Given the description of an element on the screen output the (x, y) to click on. 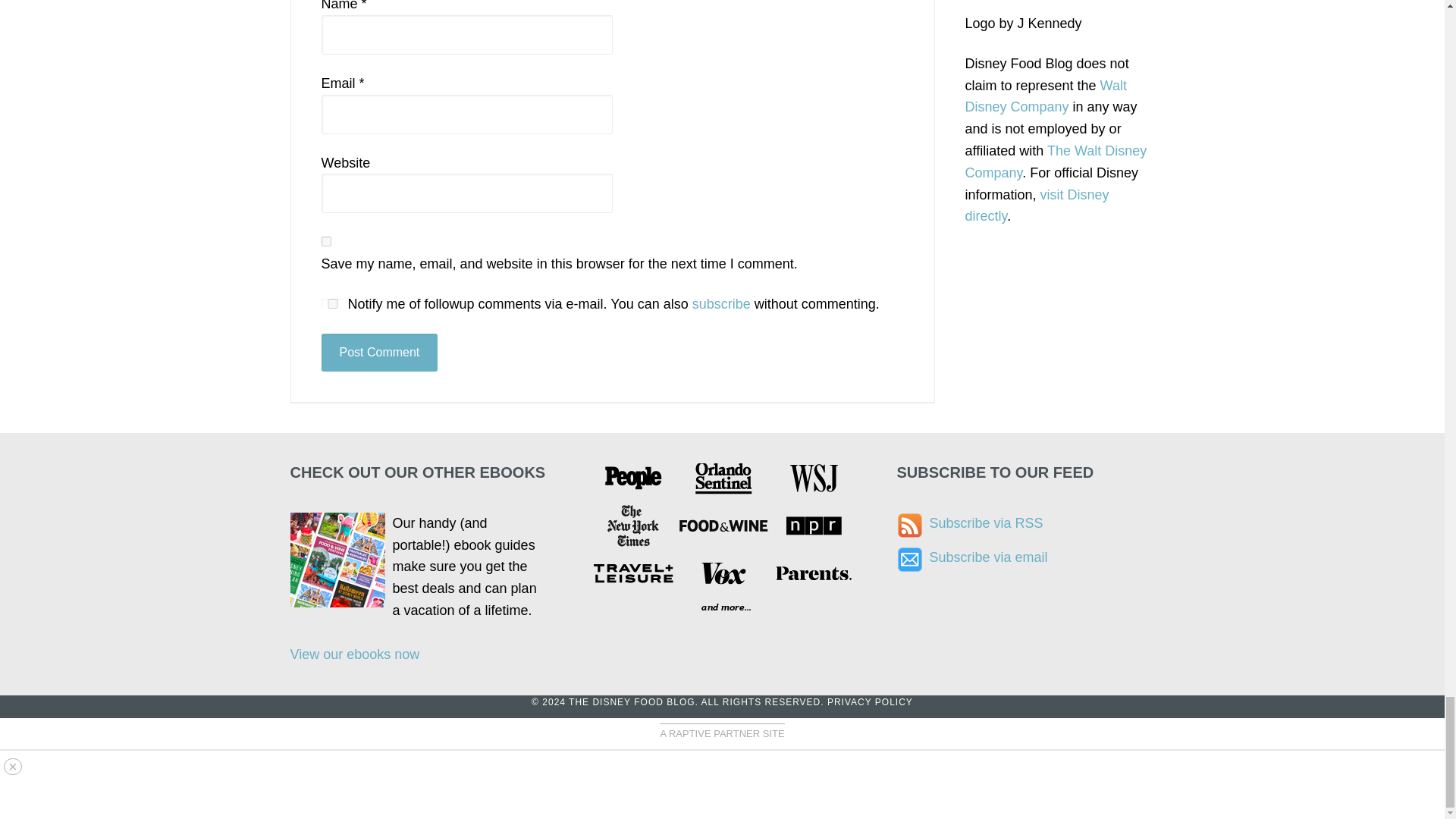
yes (326, 241)
Post Comment (379, 352)
yes (332, 303)
